Given the description of an element on the screen output the (x, y) to click on. 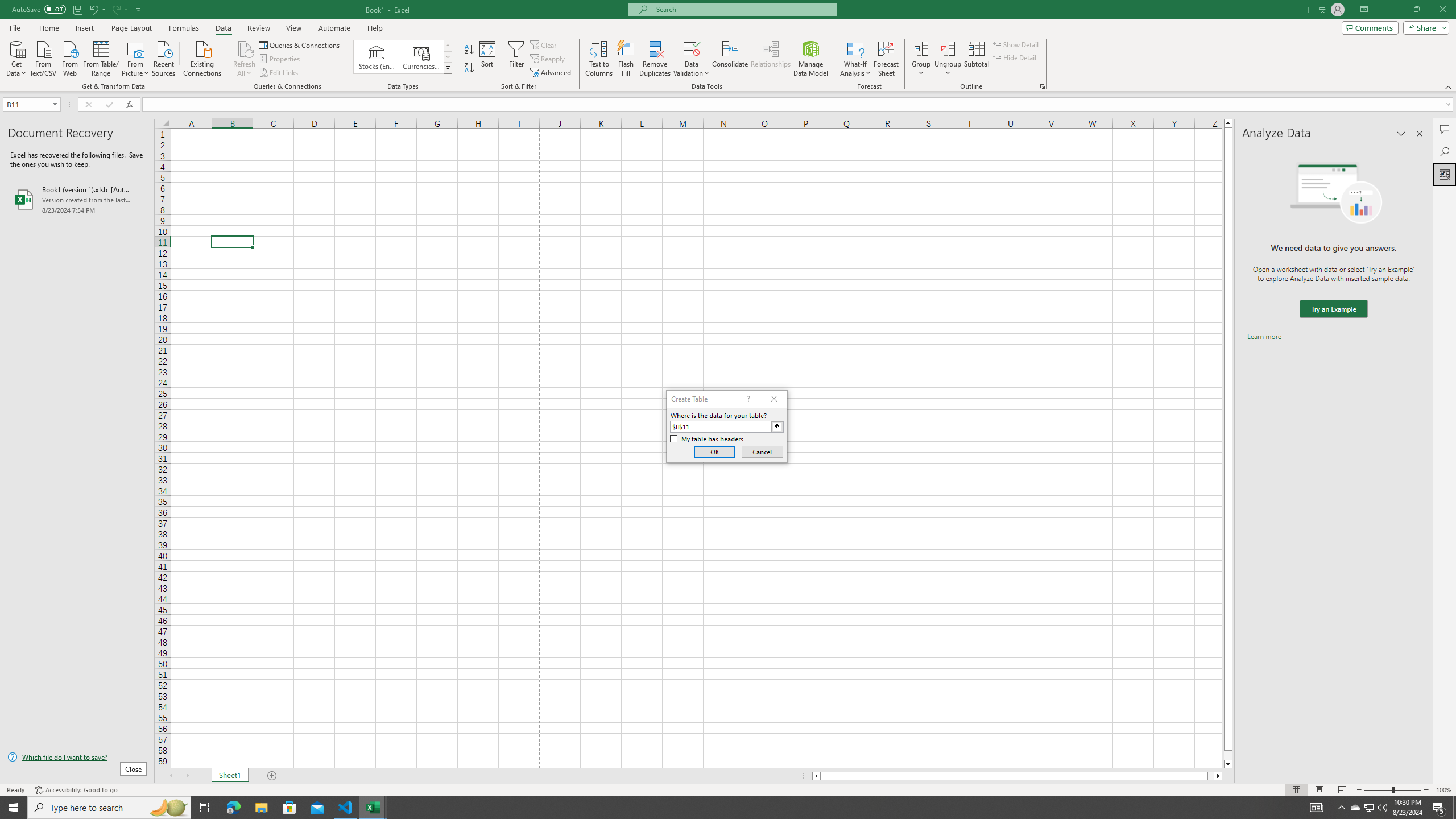
Sort A to Z (469, 49)
What-If Analysis (855, 58)
Text to Columns... (598, 58)
